Given the description of an element on the screen output the (x, y) to click on. 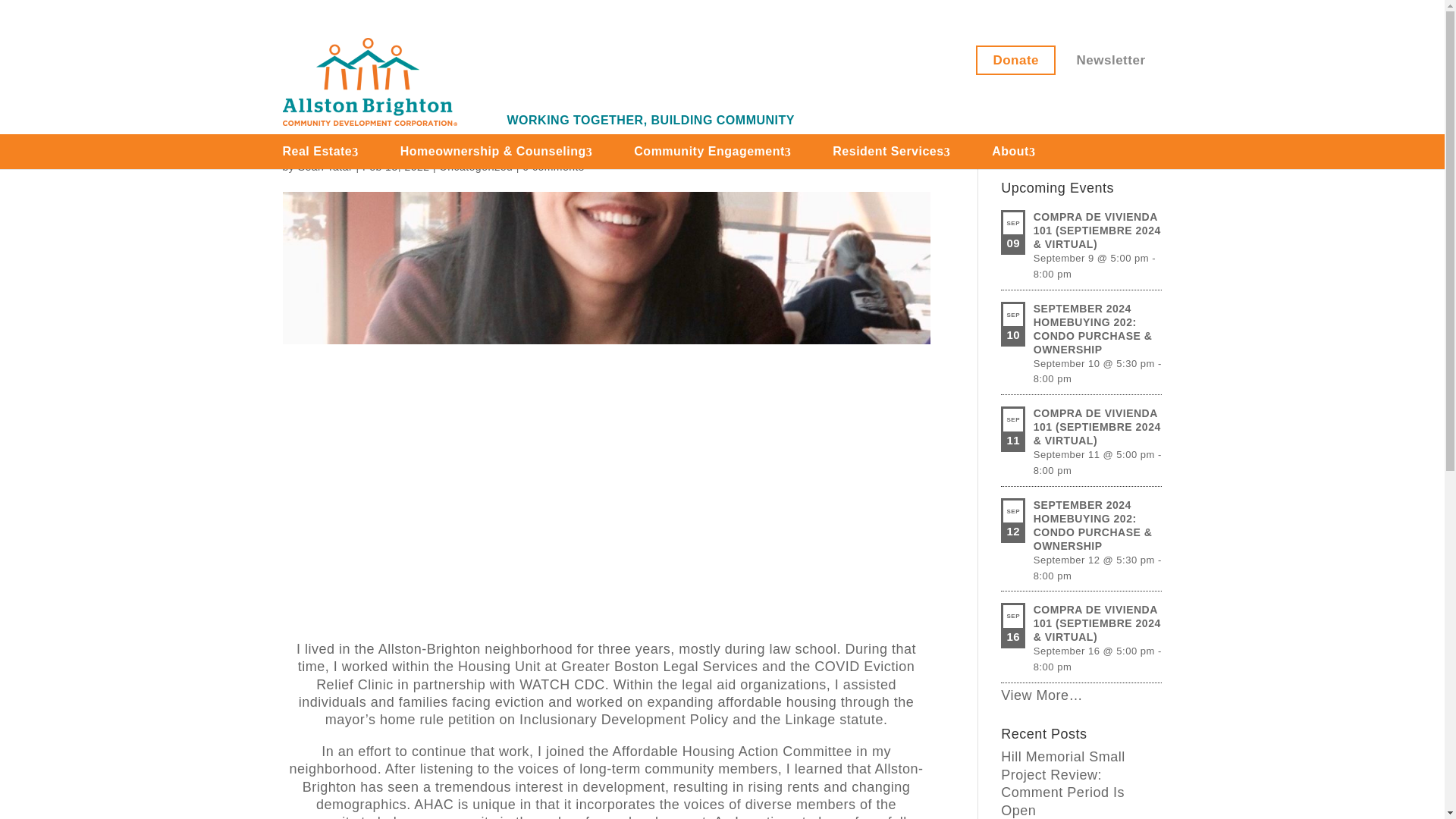
About (1010, 151)
Posts by Sean Tatar (325, 166)
Real Estate (317, 151)
Resident Services (887, 151)
Search (1134, 142)
Newsletter (1111, 59)
Community Engagement (708, 151)
Donate (1015, 59)
